Given the description of an element on the screen output the (x, y) to click on. 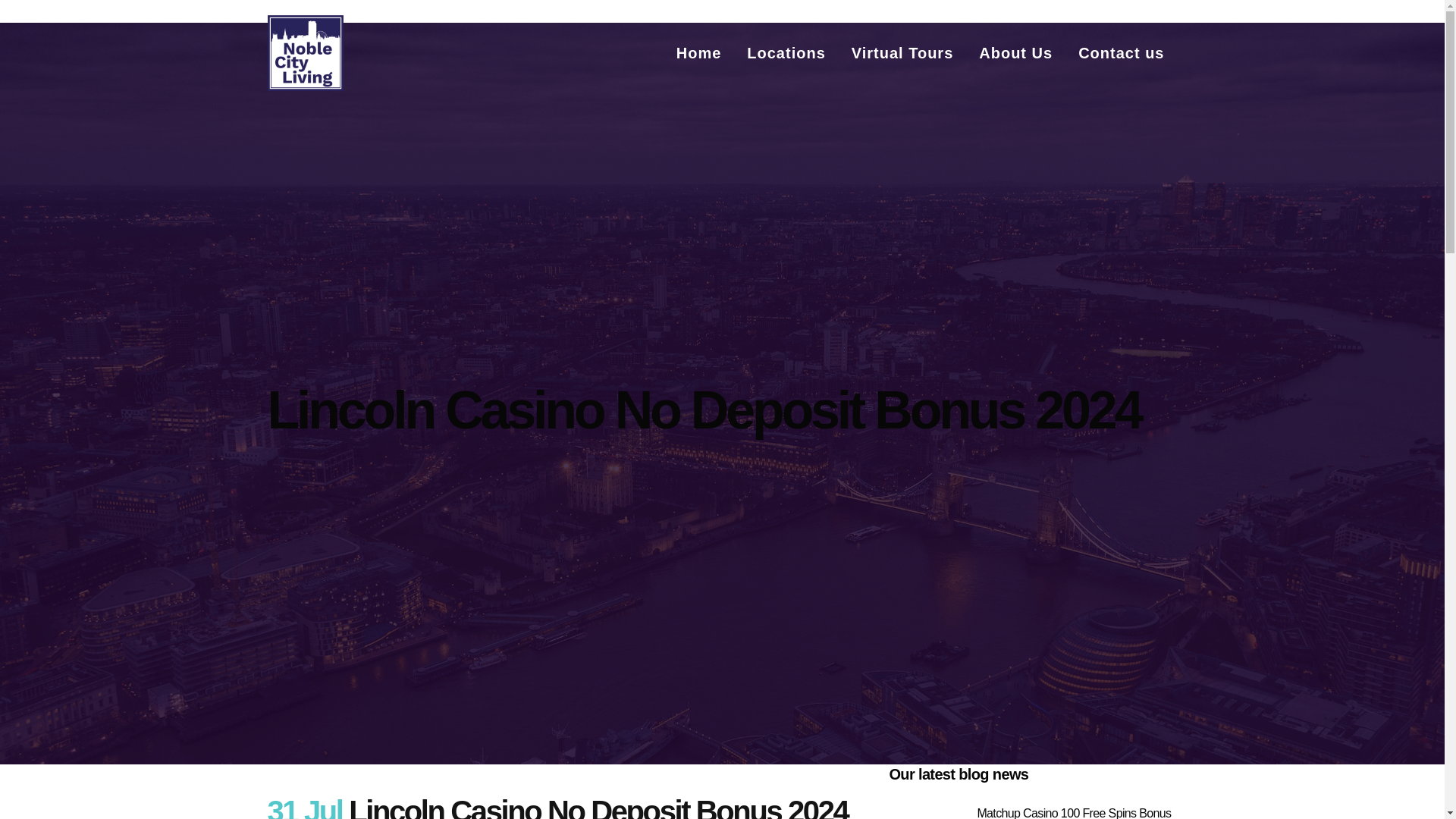
Locations (785, 53)
About Us (1015, 53)
Contact us (1120, 53)
Virtual Tours (902, 53)
Matchup Casino 100 Free Spins Bonus 2024 (1073, 812)
